Given the description of an element on the screen output the (x, y) to click on. 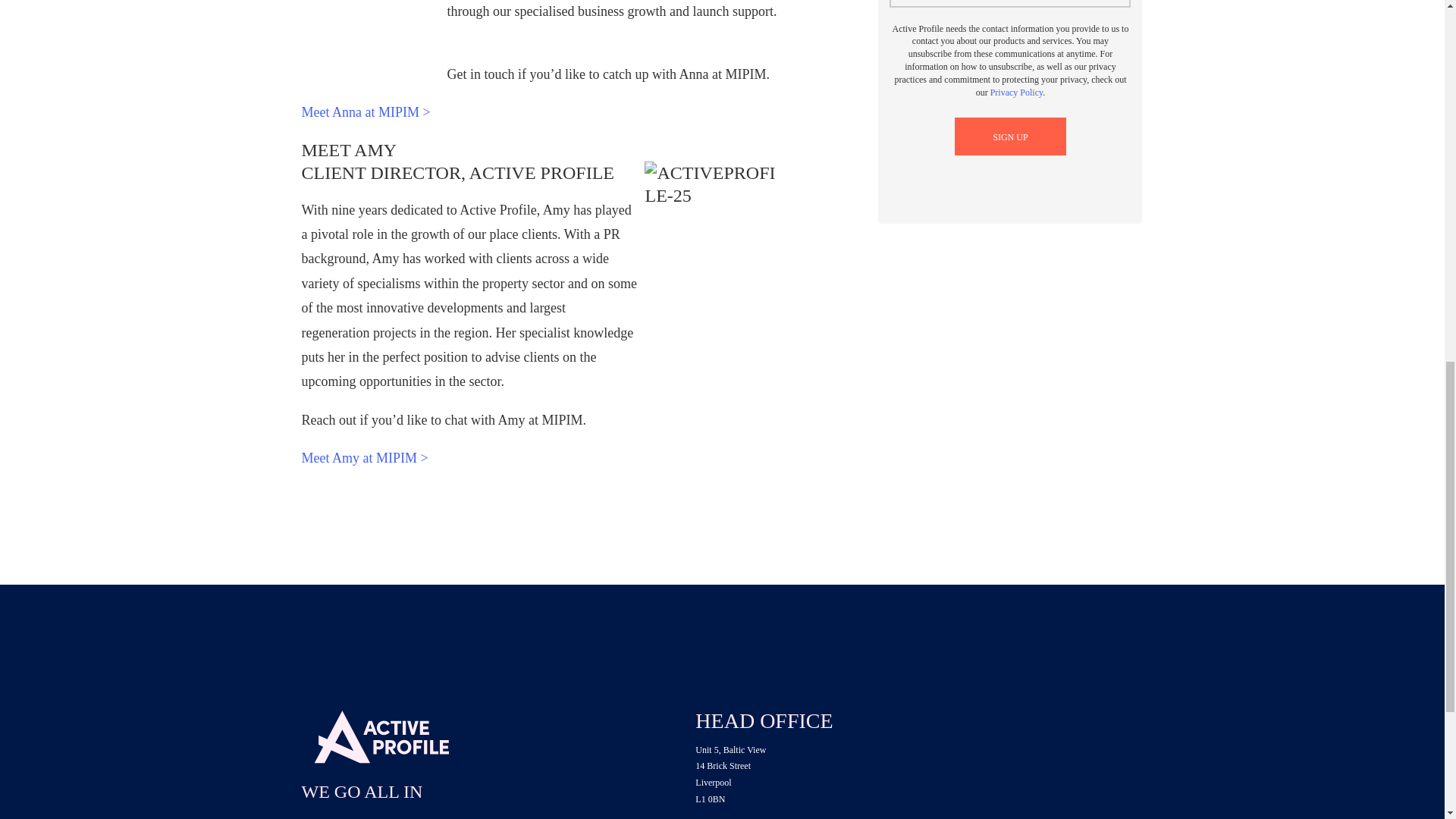
SIGN UP (1010, 136)
SIGN UP (1010, 136)
Privacy Policy (1016, 91)
